Given the description of an element on the screen output the (x, y) to click on. 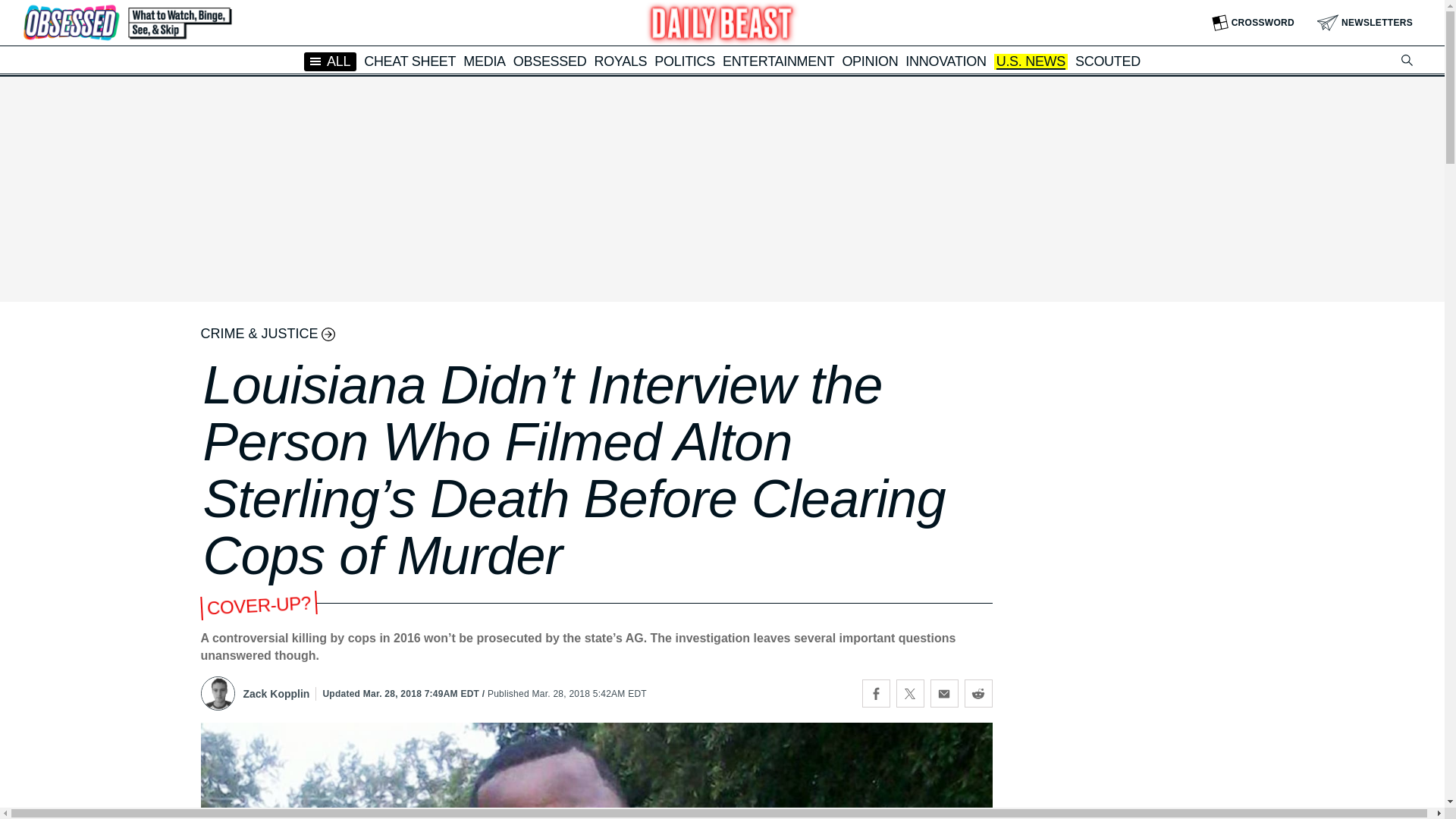
CROSSWORD (1252, 22)
OBSESSED (549, 60)
ALL (330, 60)
SCOUTED (1107, 60)
MEDIA (484, 60)
OPINION (869, 60)
ROYALS (620, 60)
POLITICS (683, 60)
NEWSLETTERS (1364, 22)
INNOVATION (945, 60)
ENTERTAINMENT (778, 60)
CHEAT SHEET (409, 60)
U.S. NEWS (1030, 61)
